Given the description of an element on the screen output the (x, y) to click on. 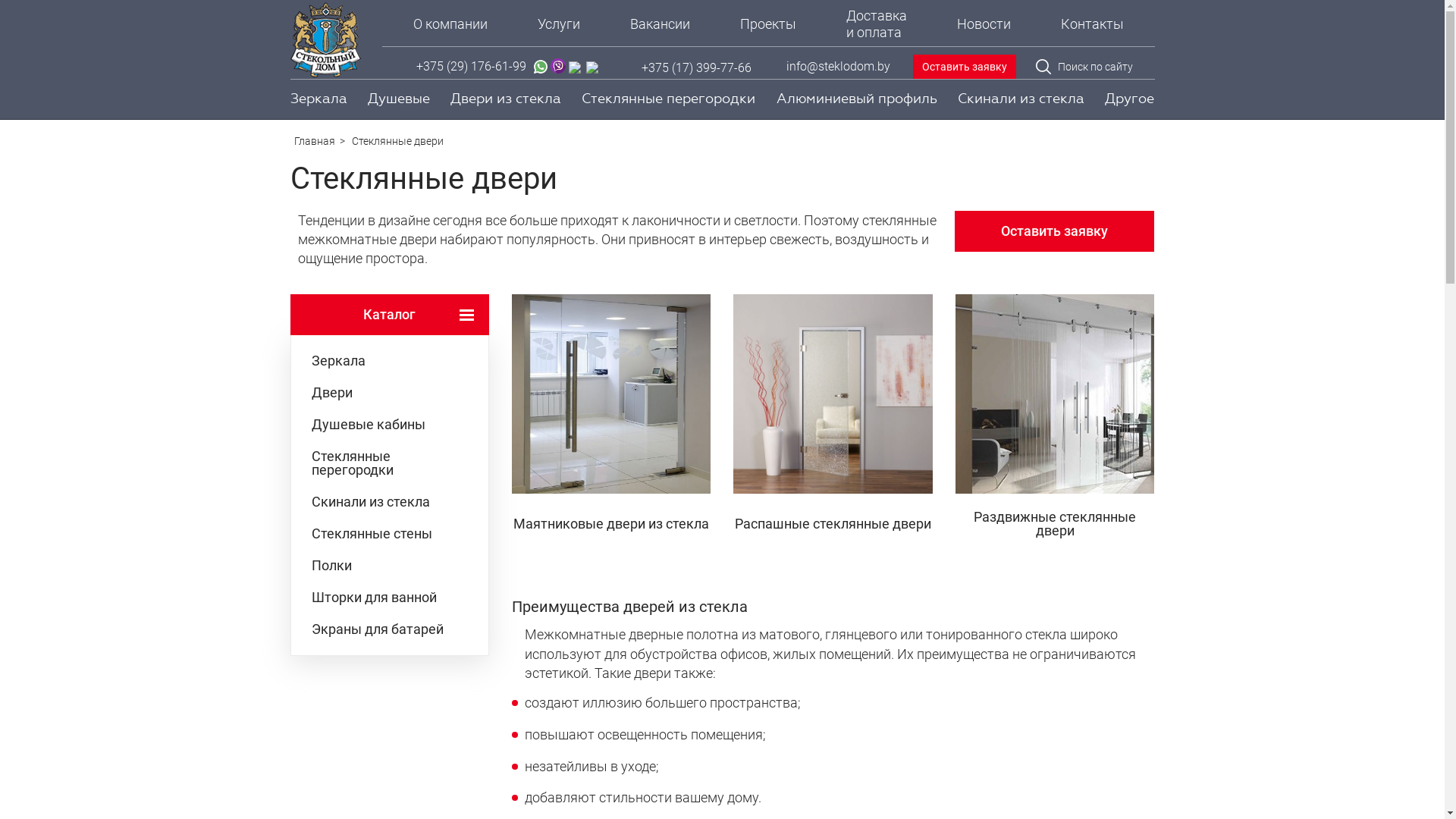
+375 (29) 176-61-99 Element type: text (471, 67)
+375 (17) 399-77-66 Element type: text (696, 68)
info@steklodom.by Element type: text (837, 66)
